Given the description of an element on the screen output the (x, y) to click on. 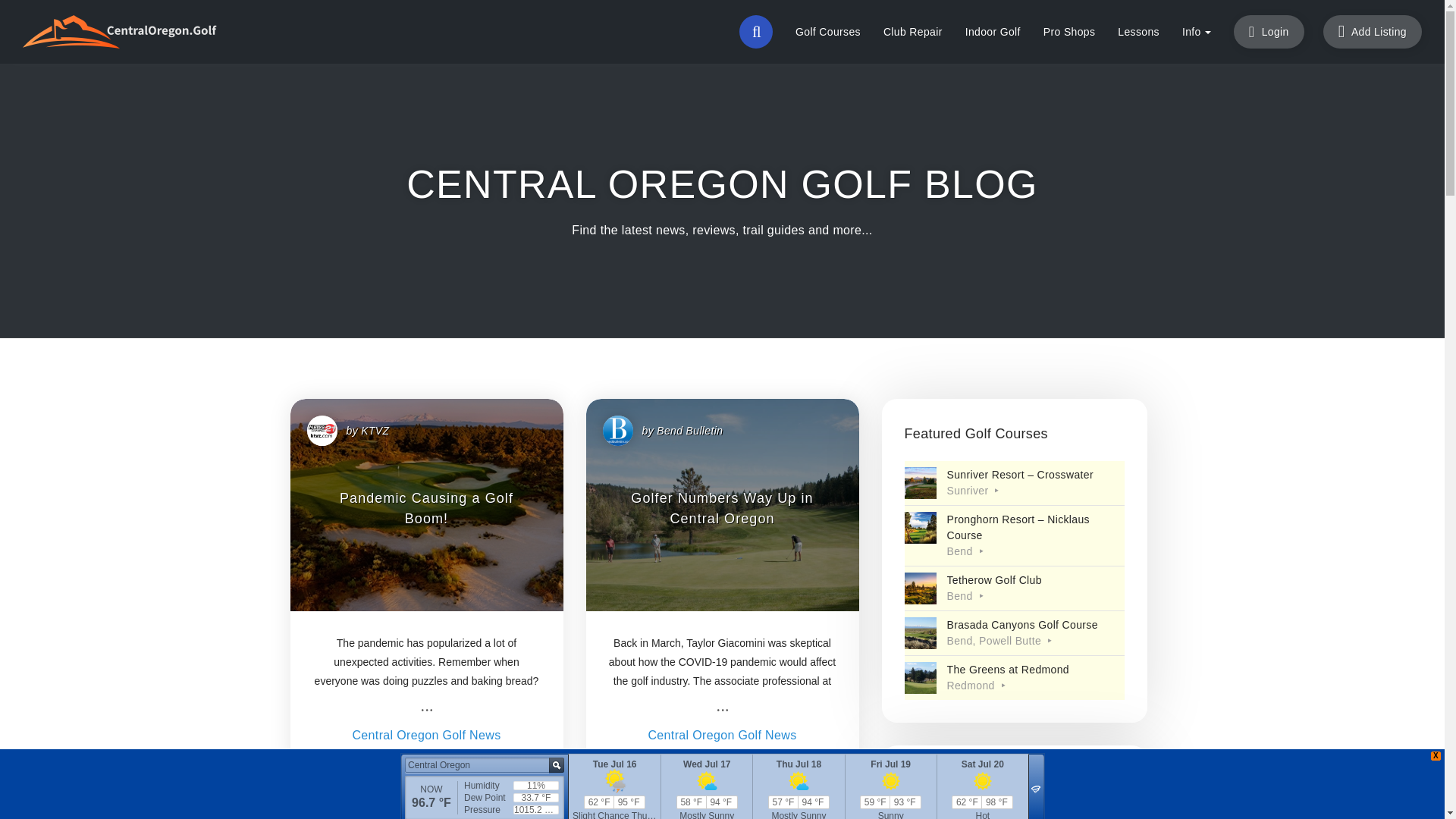
Central Oregon Golf Club Repair (912, 31)
Central Oregon Golf Simulators (992, 31)
Central Oregon Golf Pro Shops (1069, 31)
Central Oregon Golf Courses (828, 31)
